Given the description of an element on the screen output the (x, y) to click on. 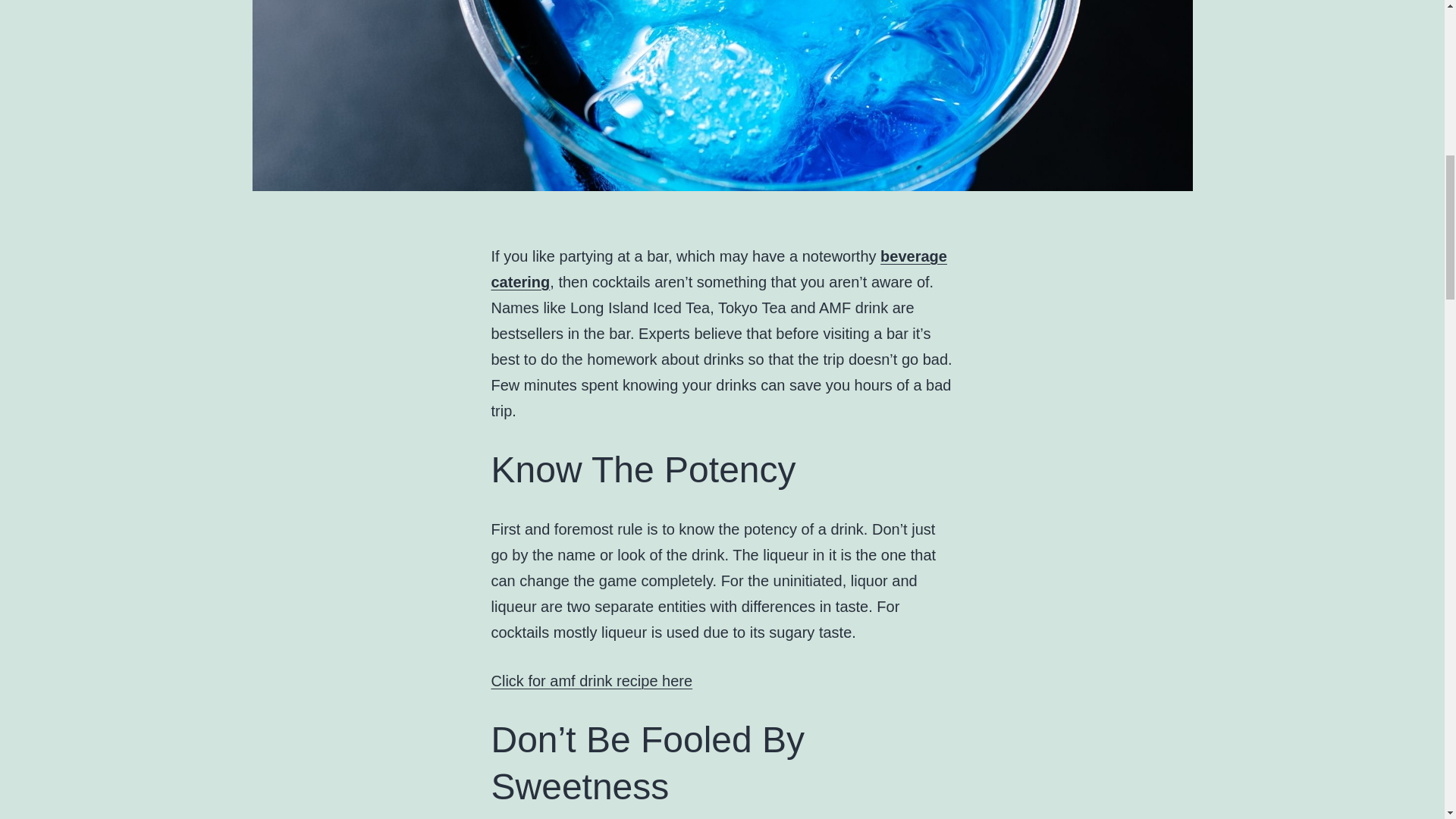
Click for amf drink recipe here (592, 680)
beverage catering (719, 269)
